Given the description of an element on the screen output the (x, y) to click on. 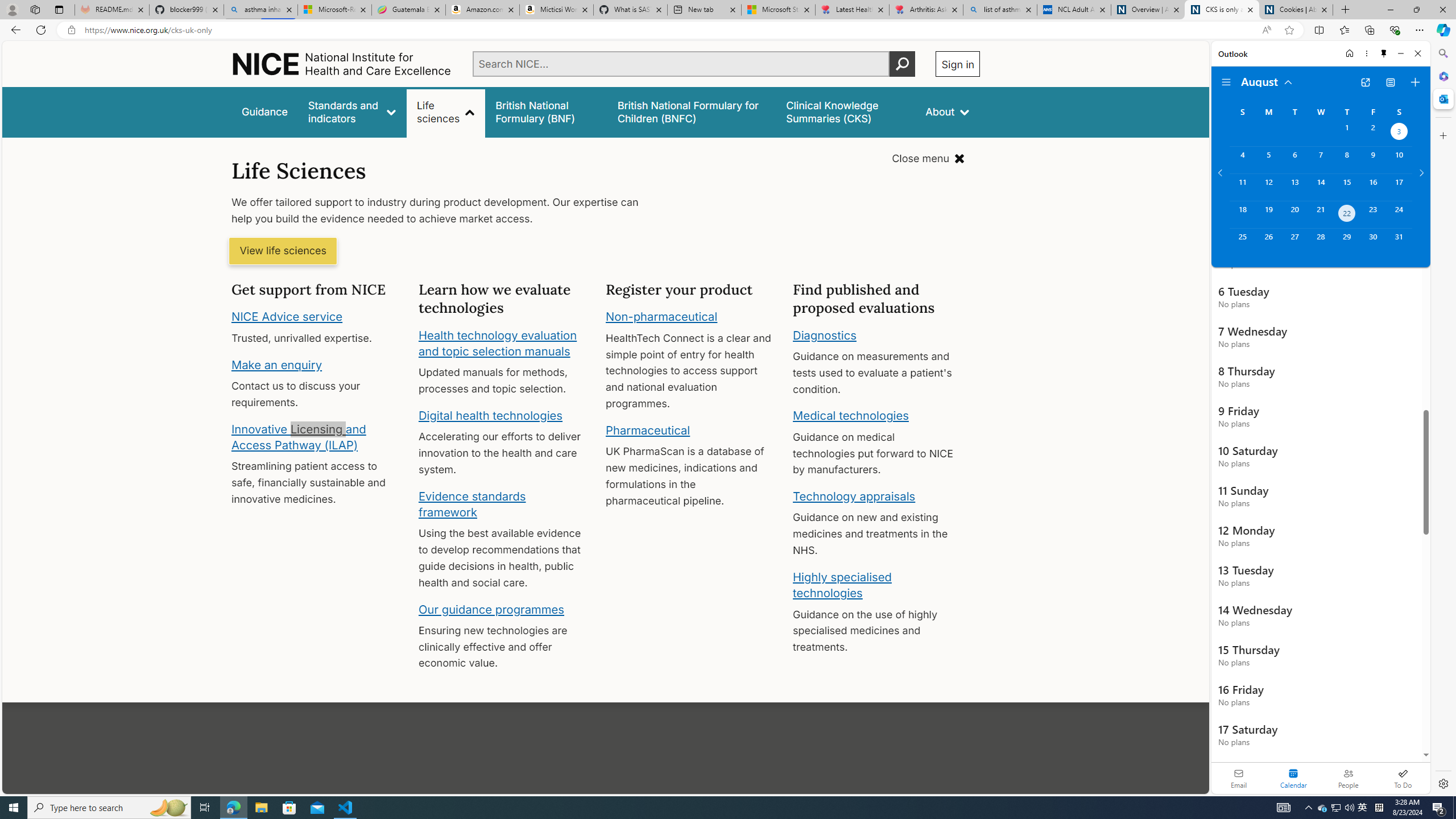
Medical technologies (850, 415)
Wednesday, August 14, 2024.  (1320, 186)
asthma inhaler - Search (260, 9)
Thursday, August 15, 2024.  (1346, 186)
Evidence standards framework (471, 503)
Sunday, August 25, 2024.  (1242, 241)
Perform search (902, 63)
Digital health technologies (490, 414)
Tuesday, August 6, 2024.  (1294, 159)
Friday, August 2, 2024.  (1372, 132)
